Given the description of an element on the screen output the (x, y) to click on. 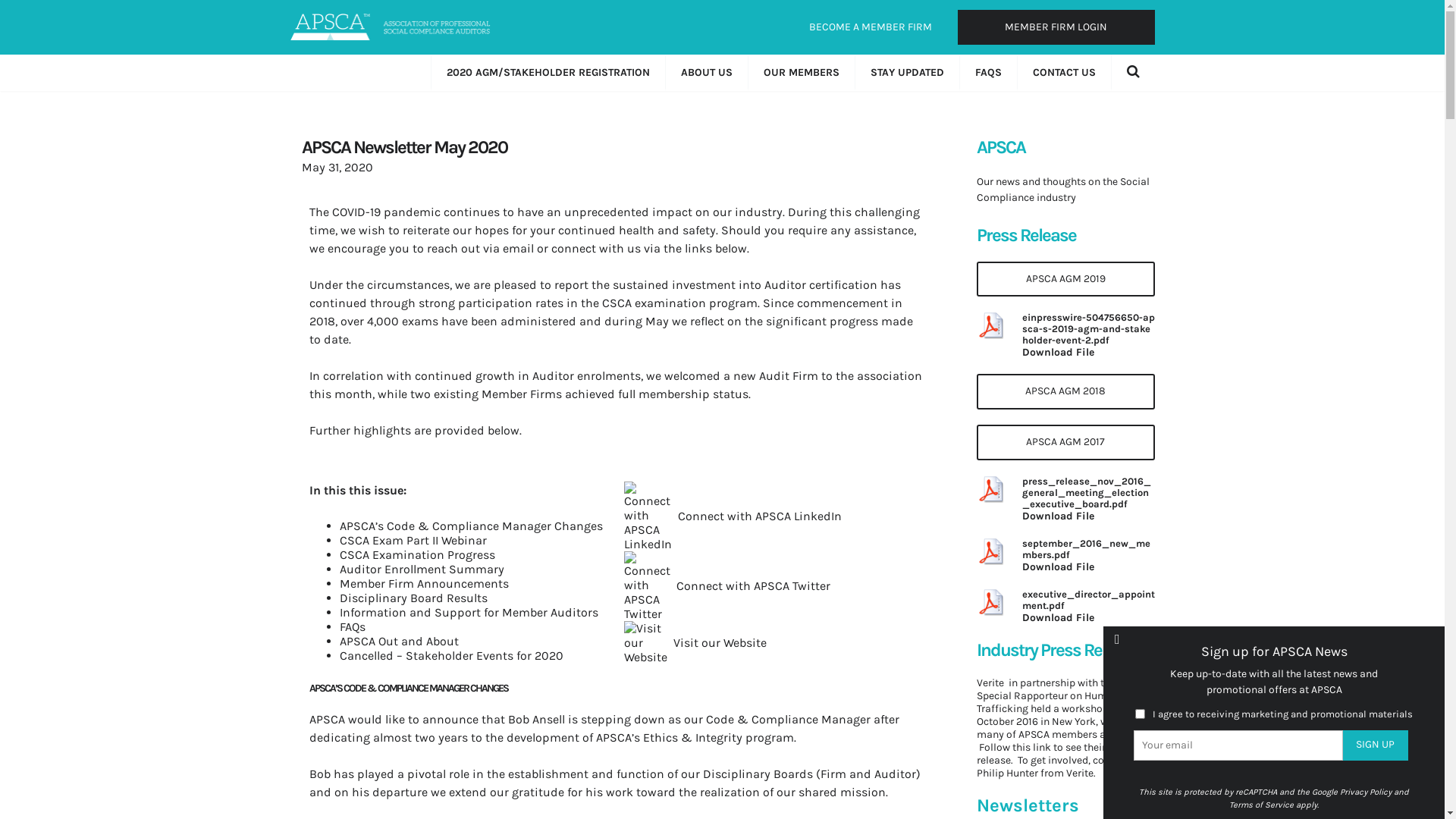
Terms of Service Element type: text (1261, 804)
BECOME A MEMBER FIRM Element type: text (869, 26)
STAY UPDATED Element type: text (905, 73)
APSCA AGM 2018 Element type: text (1065, 391)
ABOUT US Element type: text (705, 73)
2020 AGM/STAKEHOLDER REGISTRATION Element type: text (547, 73)
FAQS Element type: text (987, 73)
september_2016_new_members.pdf
Download File Element type: text (1065, 555)
Privacy Policy Element type: text (1365, 792)
MEMBER FIRM LOGIN Element type: text (1055, 27)
OUR MEMBERS Element type: text (800, 73)
Verite Element type: text (1079, 772)
CONTACT US Element type: text (1063, 73)
  Connect with APSCA LinkedIn Element type: text (756, 515)
  Visit our Website Element type: text (716, 642)
SIGN UP Element type: text (1375, 745)
executive_director_appointment.pdf
Download File Element type: text (1065, 606)
APSCA AGM 2017 Element type: text (1065, 442)
APSCA AGM 2019 Element type: text (1065, 279)
  Connect with APSCA Twitter Element type: text (750, 585)
